Given the description of an element on the screen output the (x, y) to click on. 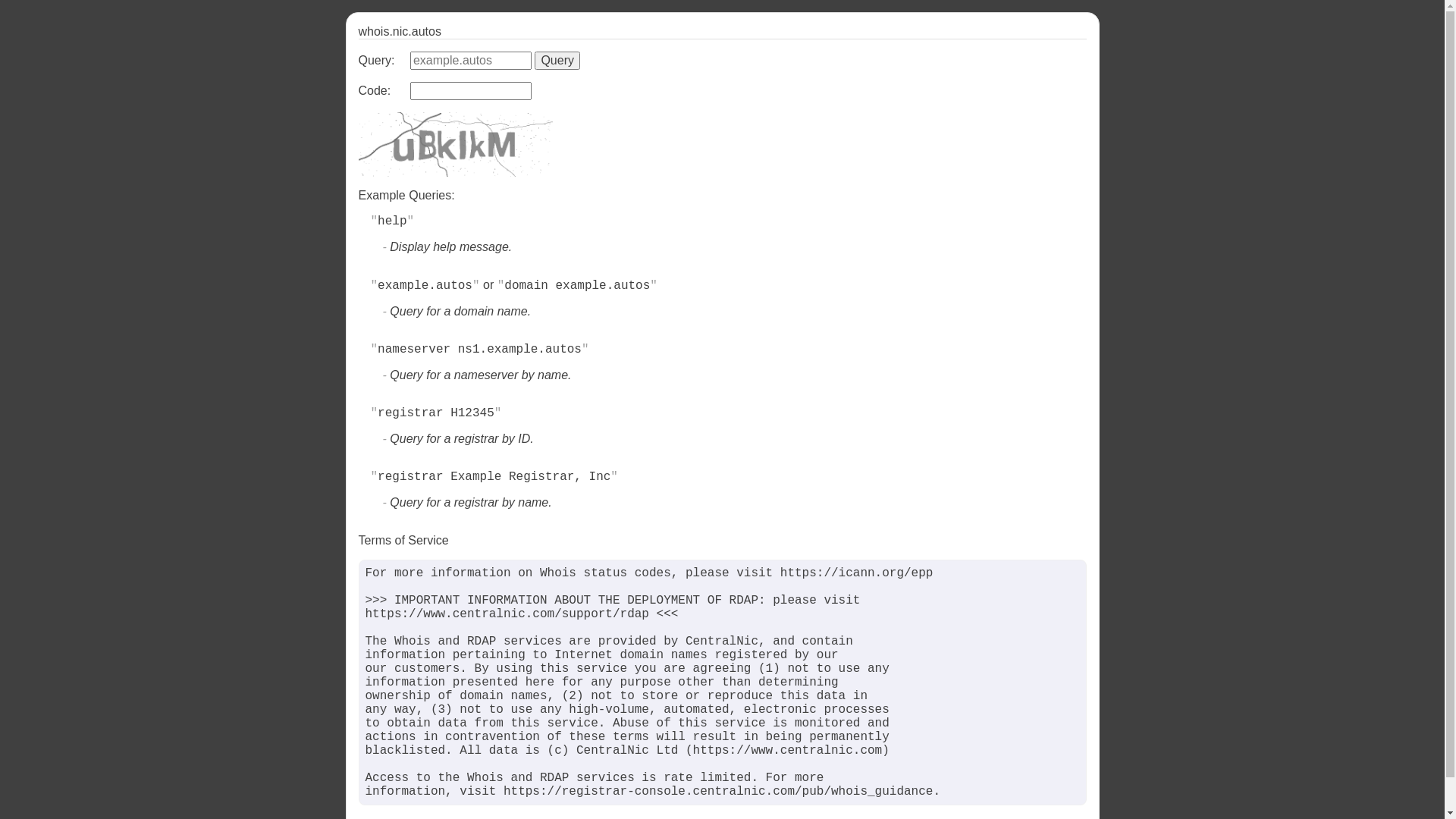
Query Element type: text (557, 60)
